Given the description of an element on the screen output the (x, y) to click on. 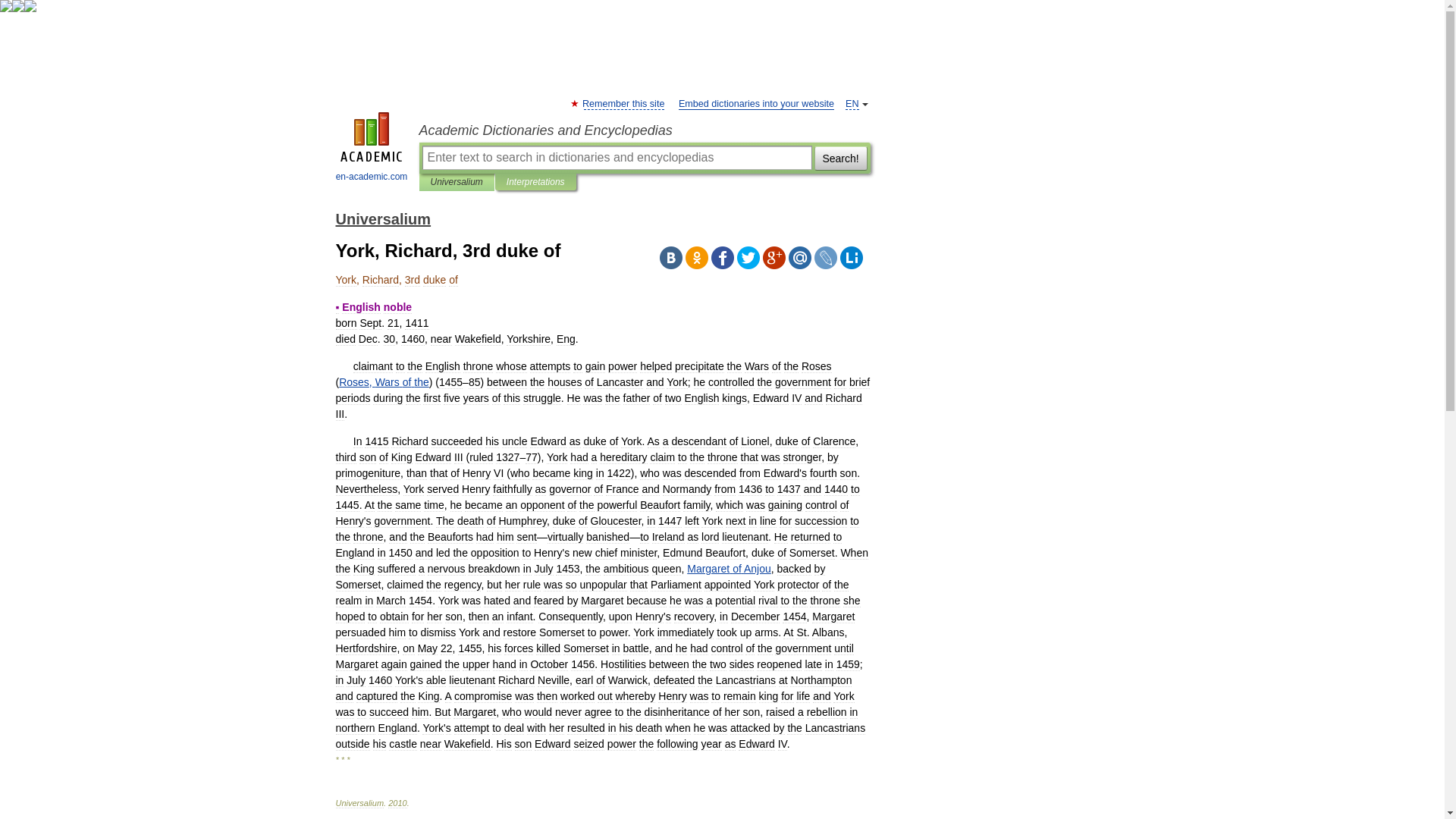
EN (852, 103)
Roses, Wars of the (384, 381)
Enter text to search in dictionaries and encyclopedias (616, 157)
Universalium (456, 181)
Search! (840, 157)
Universalium (382, 218)
Academic Dictionaries and Encyclopedias (644, 130)
en-academic.com (371, 148)
Embed dictionaries into your website (756, 103)
Margaret of Anjou (729, 568)
